Given the description of an element on the screen output the (x, y) to click on. 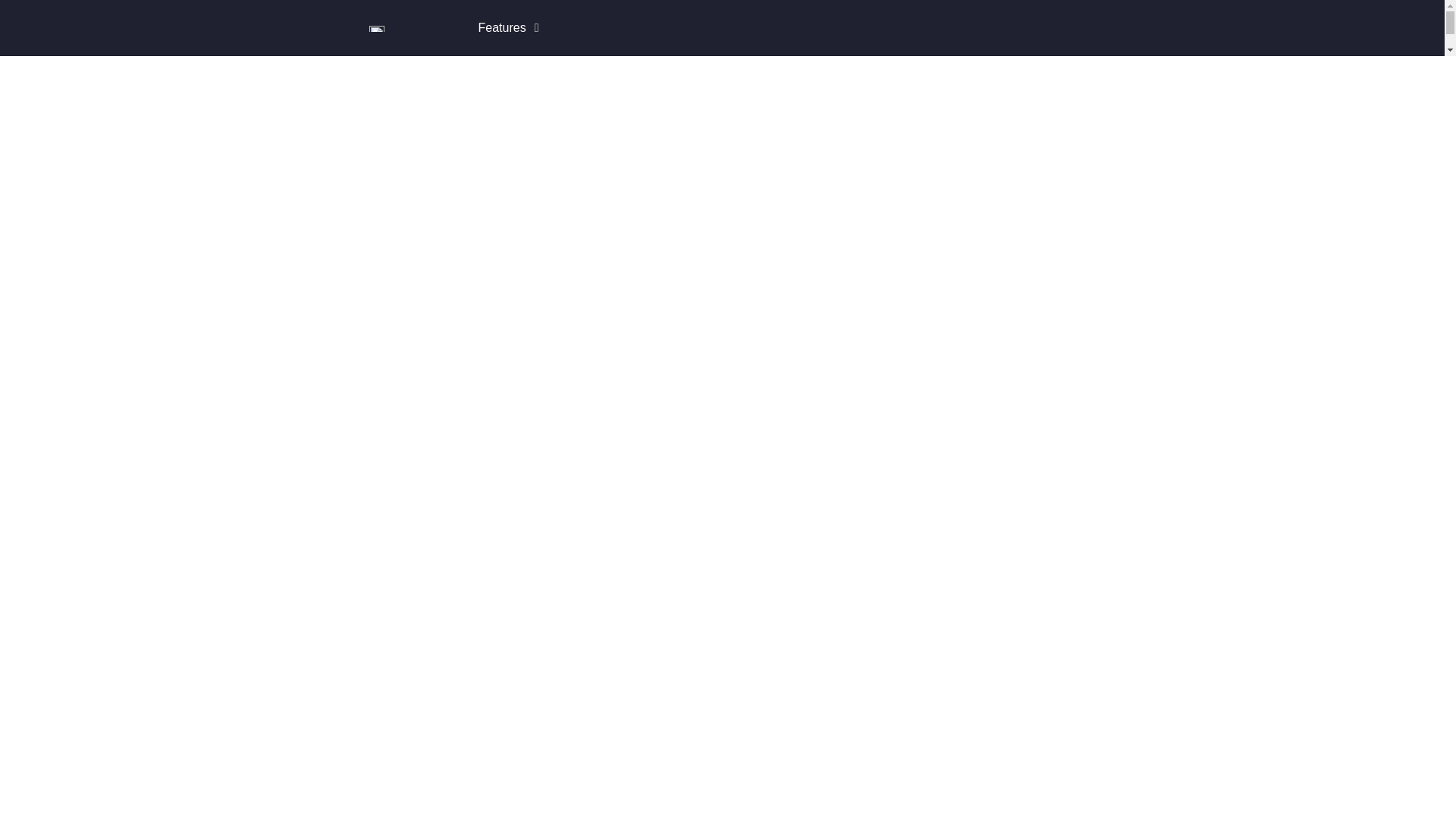
Features (501, 27)
